Given the description of an element on the screen output the (x, y) to click on. 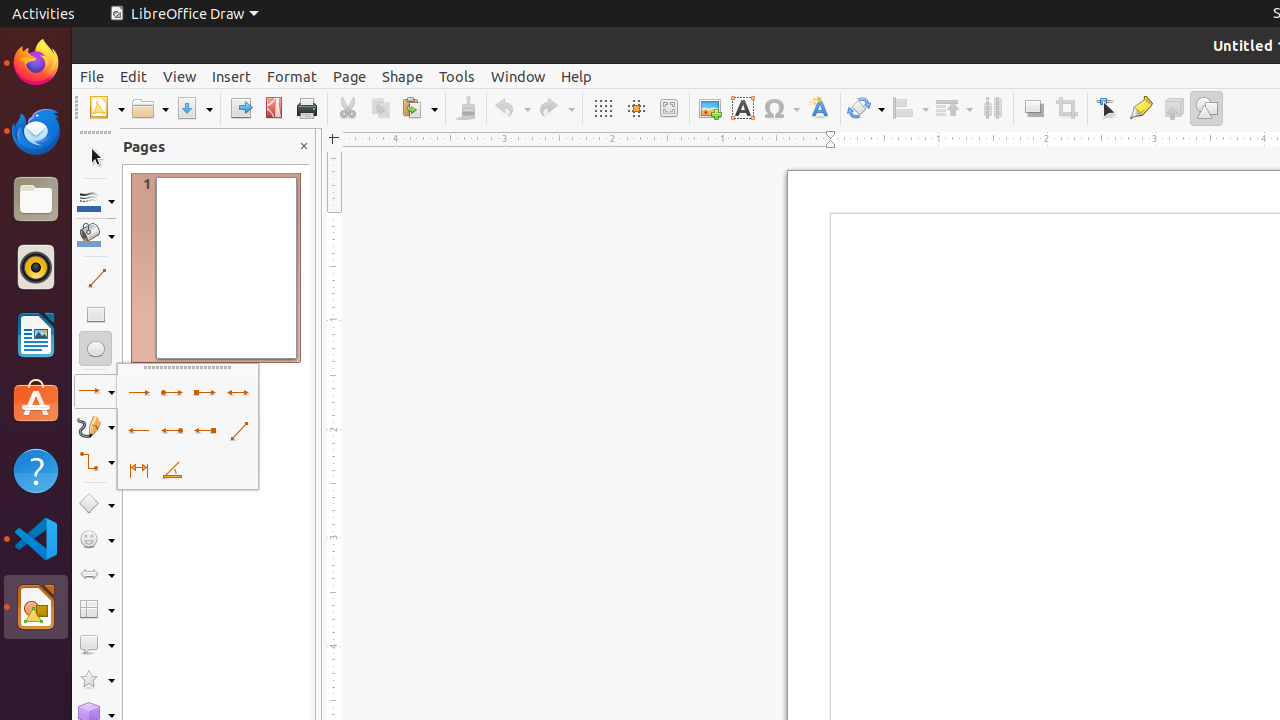
Window Element type: menu (518, 76)
Thunderbird Mail Element type: push-button (36, 131)
Tools Element type: menu (457, 76)
Fontwork Style Element type: toggle-button (819, 108)
Save Element type: push-button (194, 108)
